Given the description of an element on the screen output the (x, y) to click on. 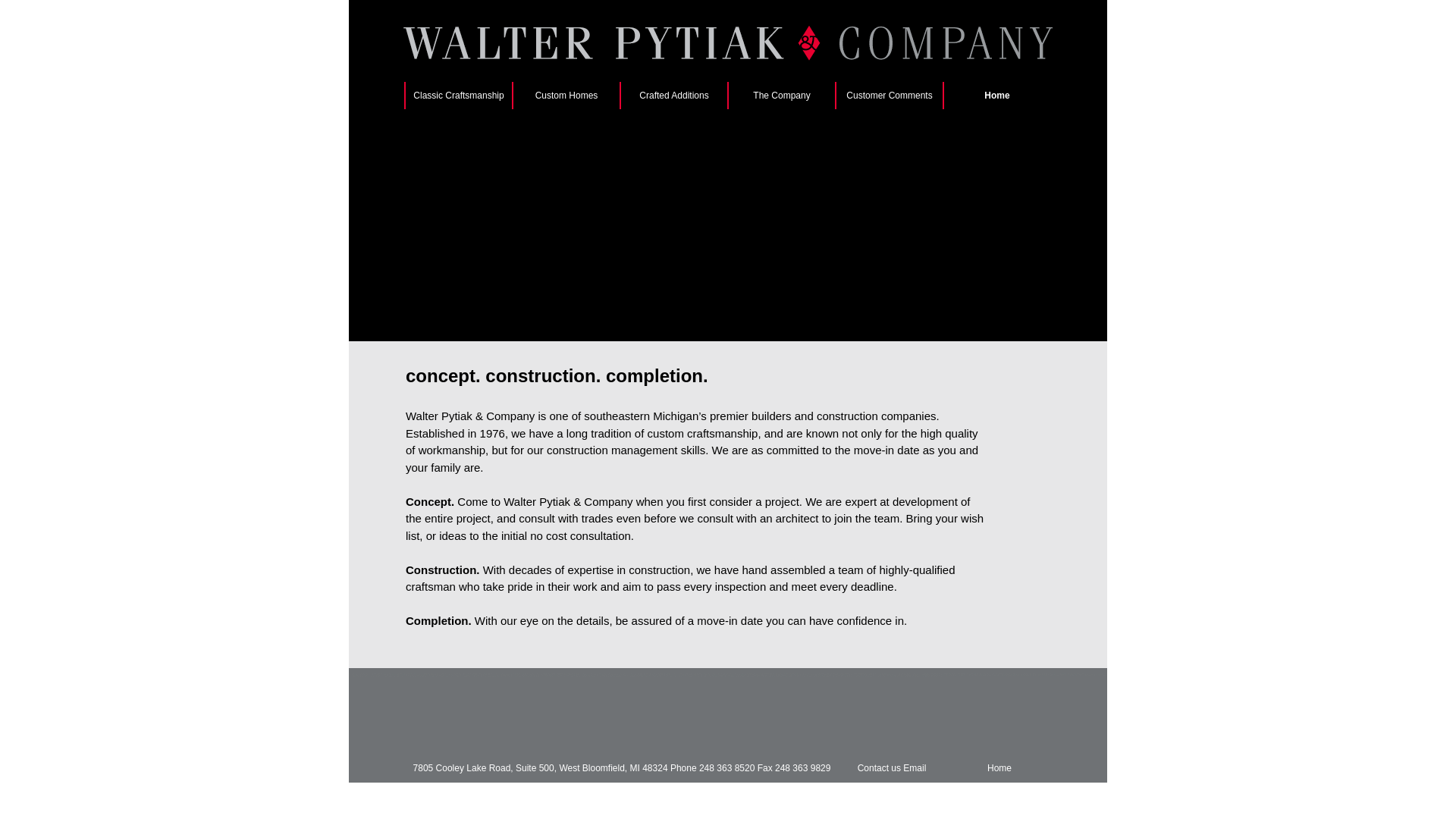
248 363 8520 (726, 767)
Customer Comments (888, 94)
Classic Craftsmanship (458, 94)
Skip to primary content (403, 94)
Crafted Additions (673, 94)
Skip to primary content (403, 94)
The Company (780, 94)
Custom Homes (566, 94)
Home (995, 94)
Walter Pytiak and Company (498, 188)
Contact us Email (891, 767)
Walter Pytiak and Company (498, 188)
Home (999, 767)
